Given the description of an element on the screen output the (x, y) to click on. 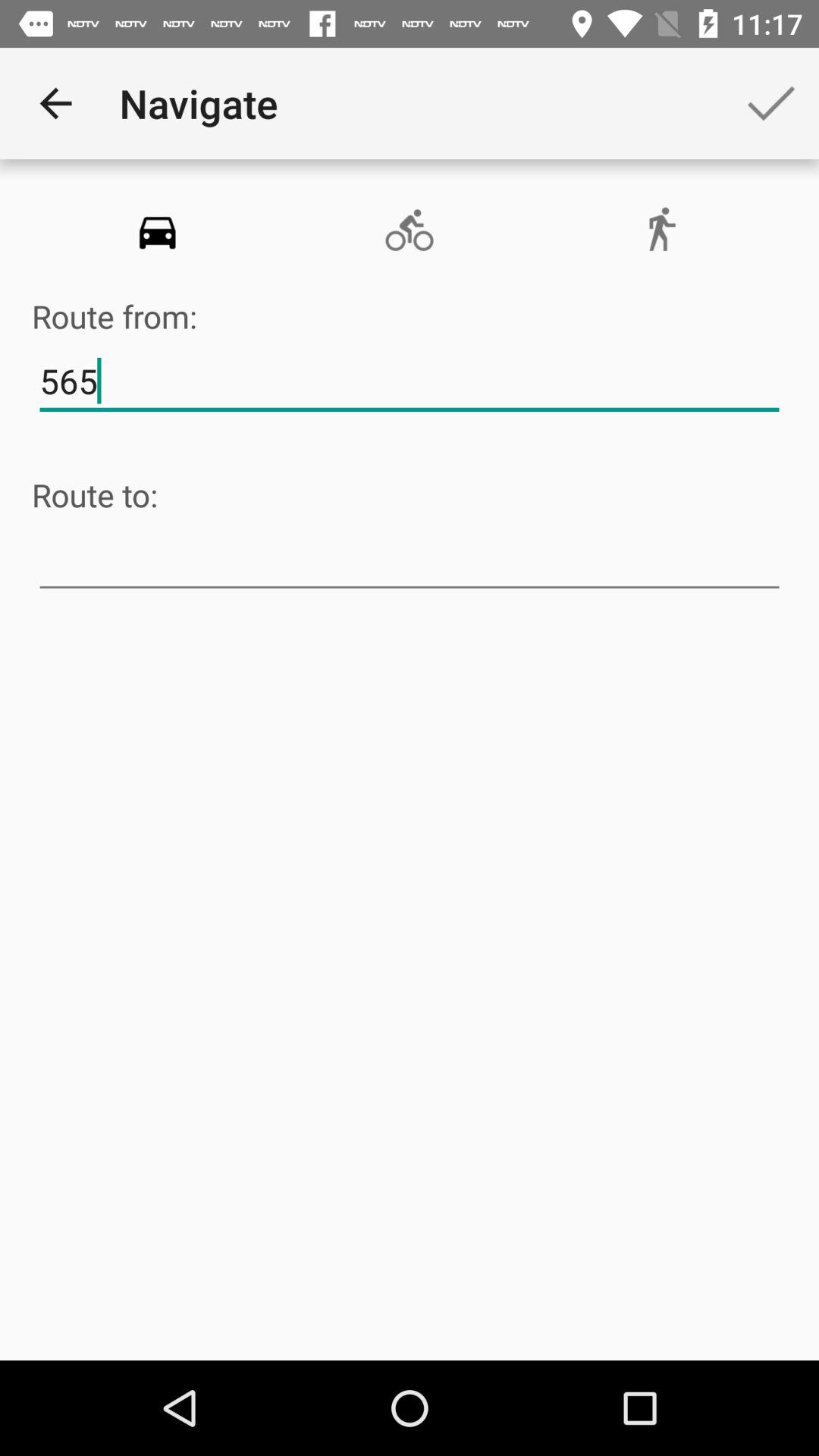
choose item above the route to: (409, 381)
